Given the description of an element on the screen output the (x, y) to click on. 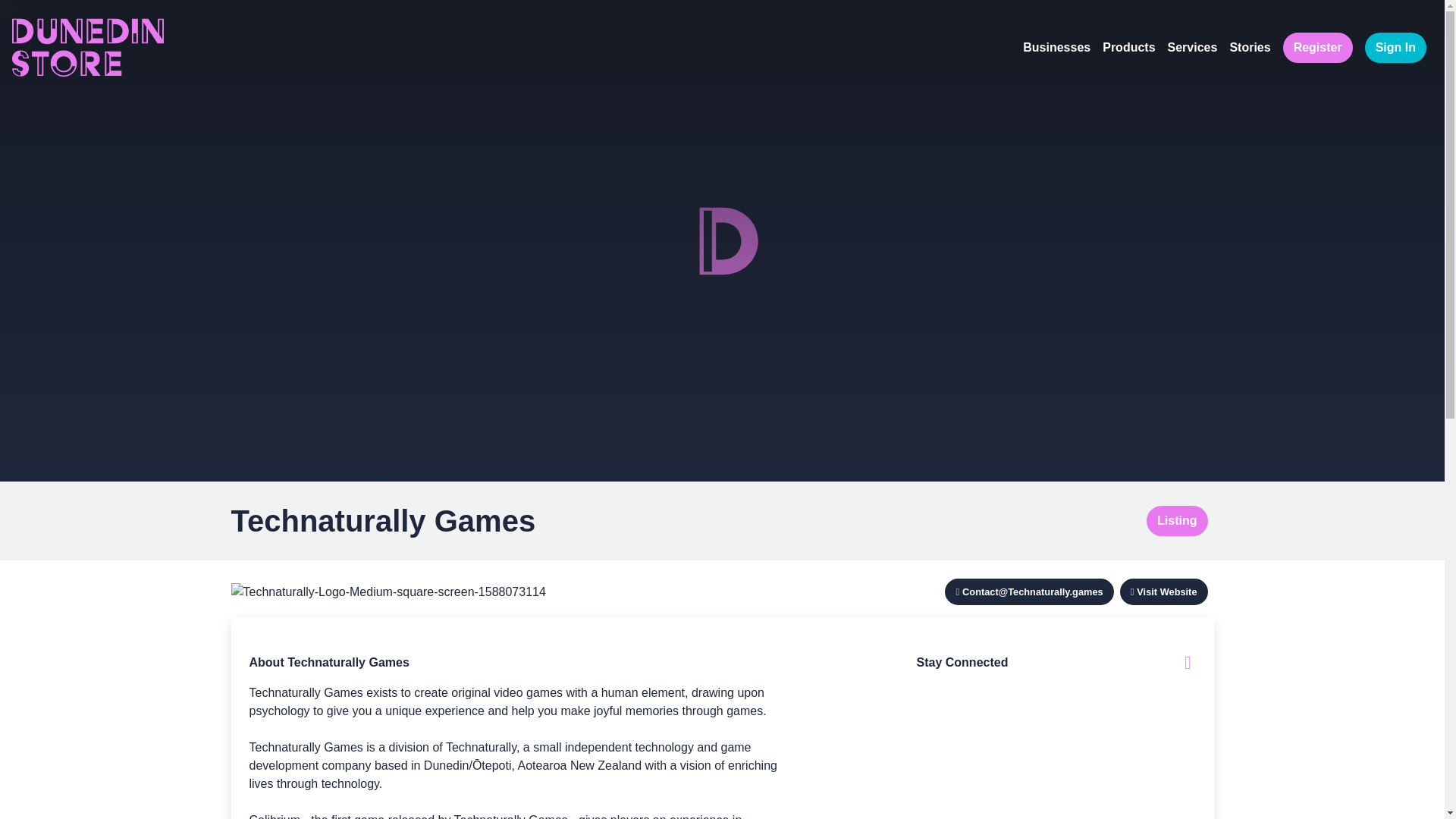
Businesses (1056, 47)
Products (1128, 47)
Sign In (1395, 47)
Services (1192, 47)
Visit Website (1166, 590)
Register (1317, 47)
Dunedin Store (87, 47)
Stories (1249, 47)
